Given the description of an element on the screen output the (x, y) to click on. 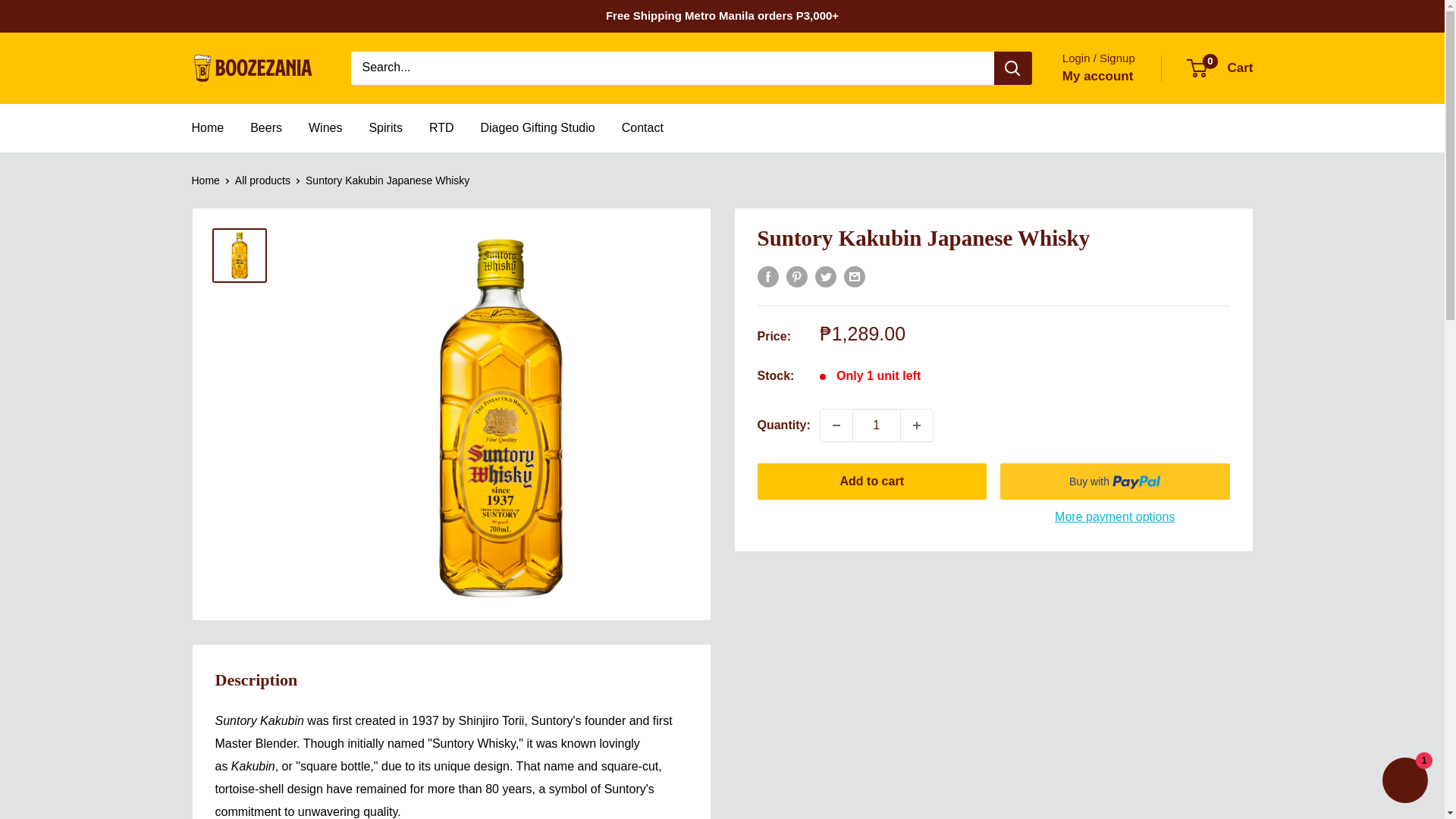
Shopify online store chat (1404, 781)
1 (876, 425)
Increase quantity by 1 (917, 425)
Diageo Gifting Studio (537, 128)
Home (204, 180)
BoozeZania (1220, 68)
Decrease quantity by 1 (255, 67)
Spirits (836, 425)
Home (384, 128)
RTD (207, 128)
Contact (441, 128)
Wines (642, 128)
All products (325, 128)
My account (261, 180)
